Given the description of an element on the screen output the (x, y) to click on. 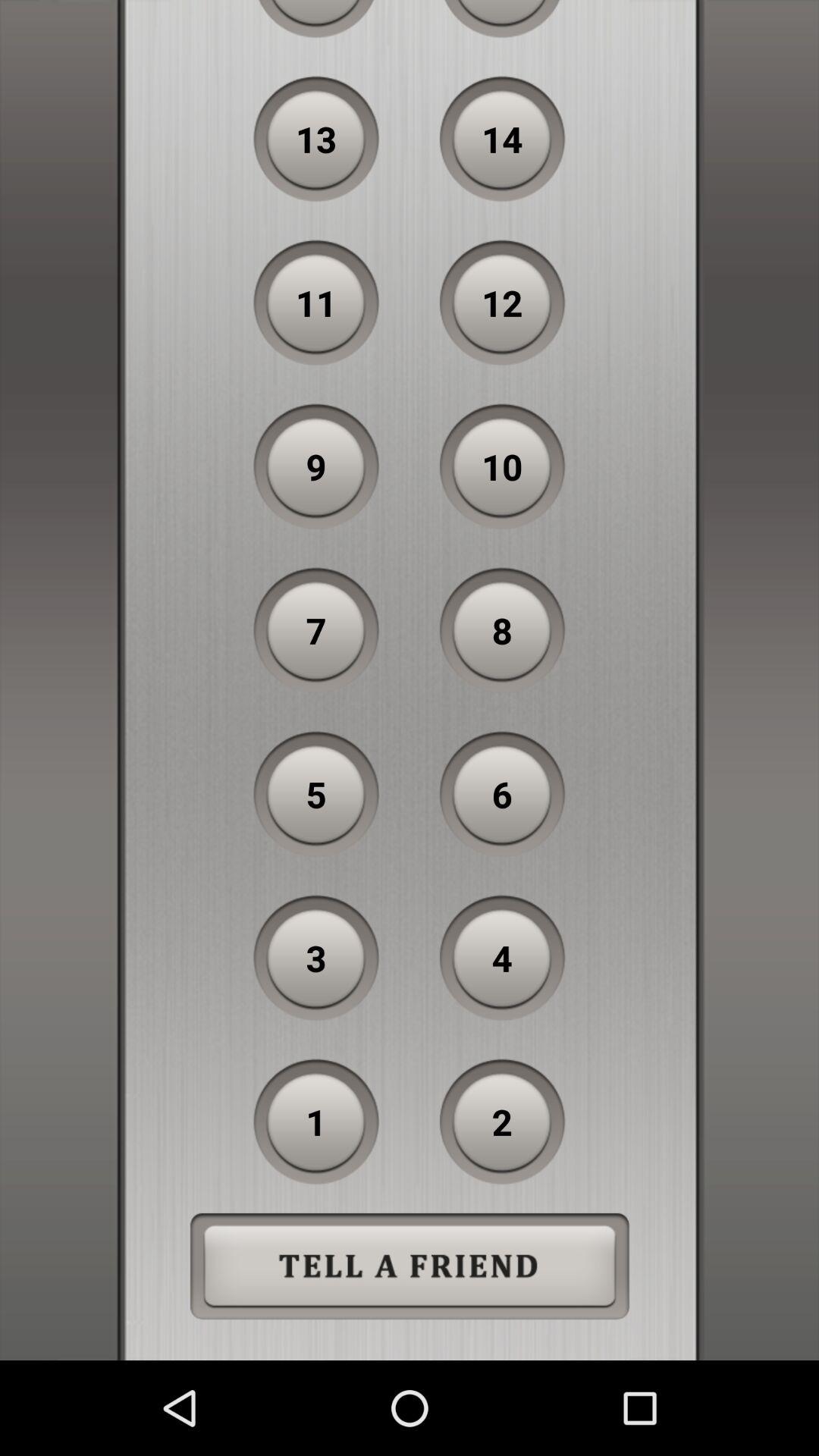
turn off item above the 6 (502, 630)
